Given the description of an element on the screen output the (x, y) to click on. 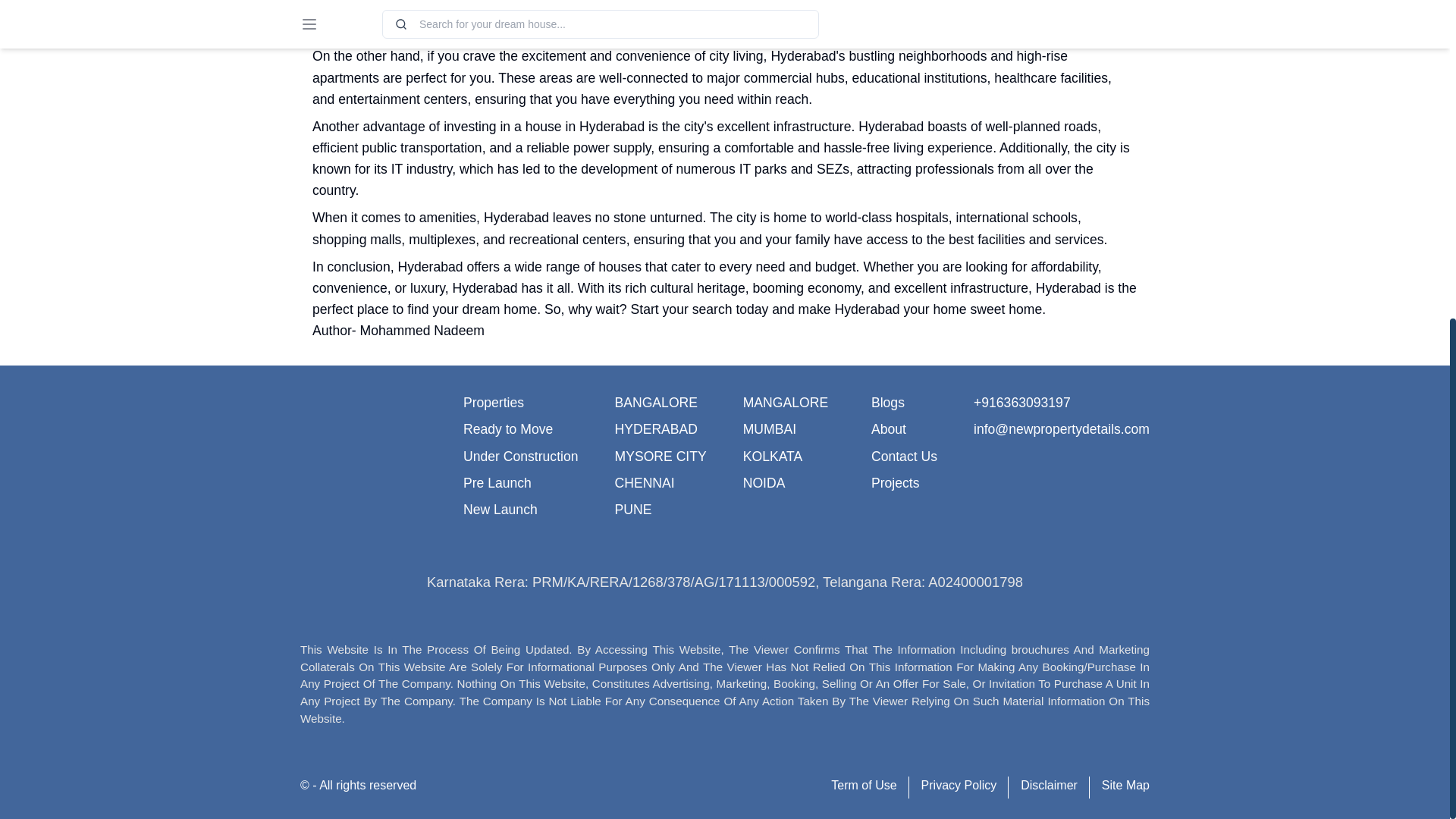
Pre Launch (497, 482)
Disclaimer (1048, 784)
Blogs (887, 402)
PUNE (632, 509)
MYSORE CITY (660, 456)
Projects (895, 482)
MUMBAI (769, 428)
Under Construction (520, 456)
Ready to Move (508, 428)
MANGALORE (785, 402)
